Given the description of an element on the screen output the (x, y) to click on. 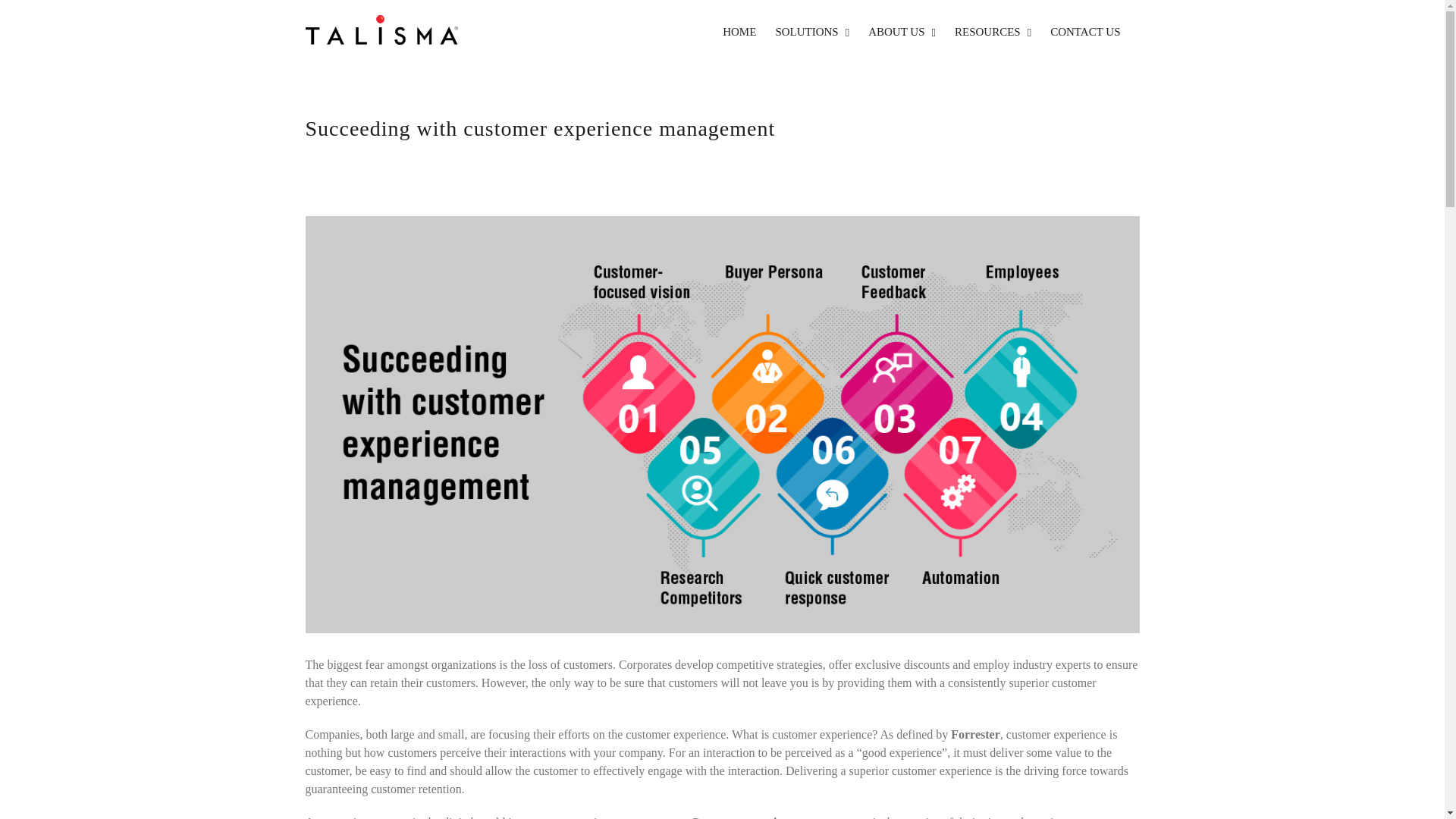
RESOURCES (992, 32)
SOLUTIONS (811, 32)
CONTACT US (1084, 32)
ABOUT US (901, 32)
